Given the description of an element on the screen output the (x, y) to click on. 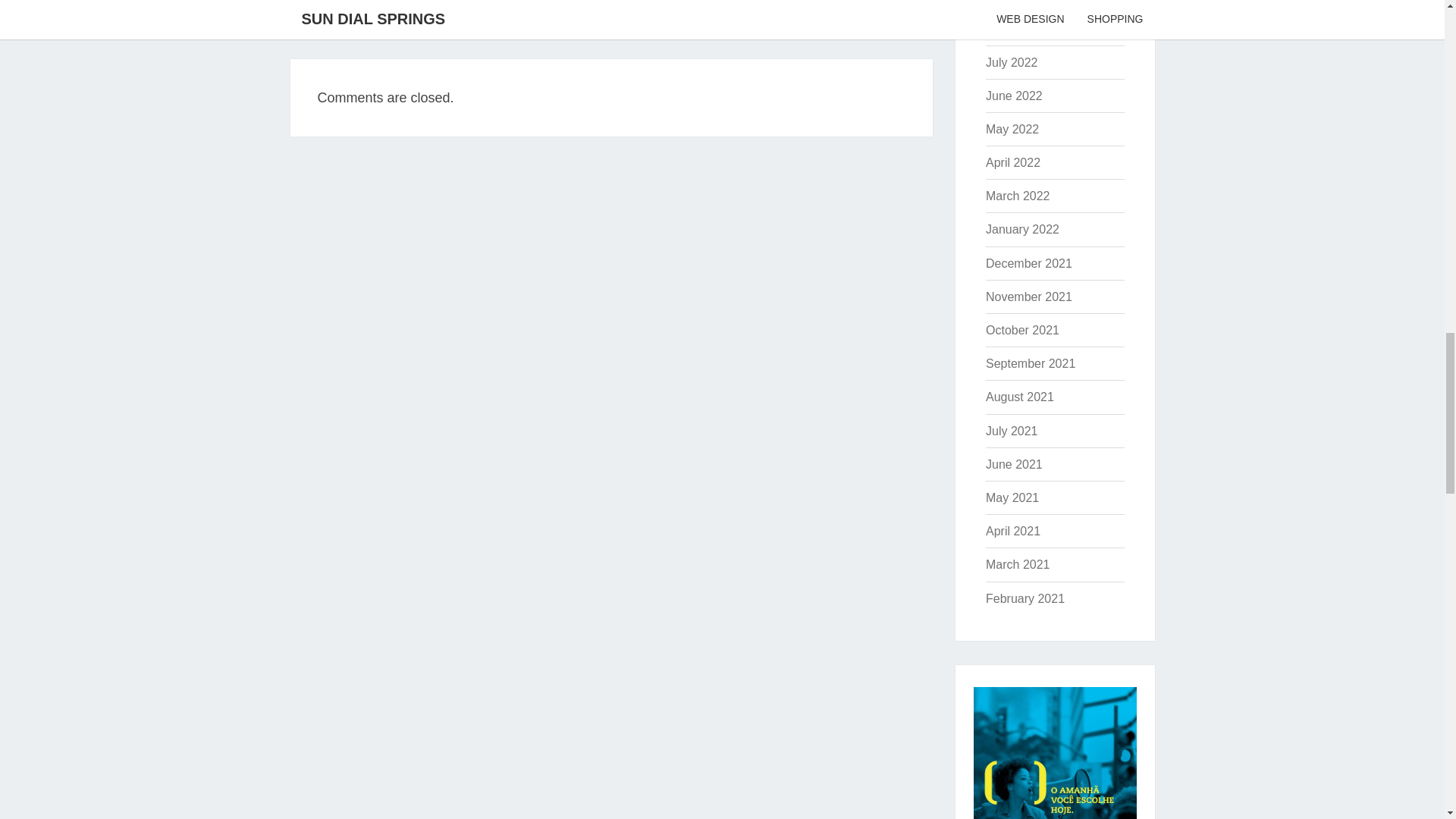
July 2022 (1011, 62)
August 2022 (1019, 28)
May 2022 (1012, 128)
June 2022 (1013, 95)
September 2022 (1030, 0)
April 2022 (1013, 162)
March 2022 (1022, 228)
December 2021 (1017, 195)
